Given the description of an element on the screen output the (x, y) to click on. 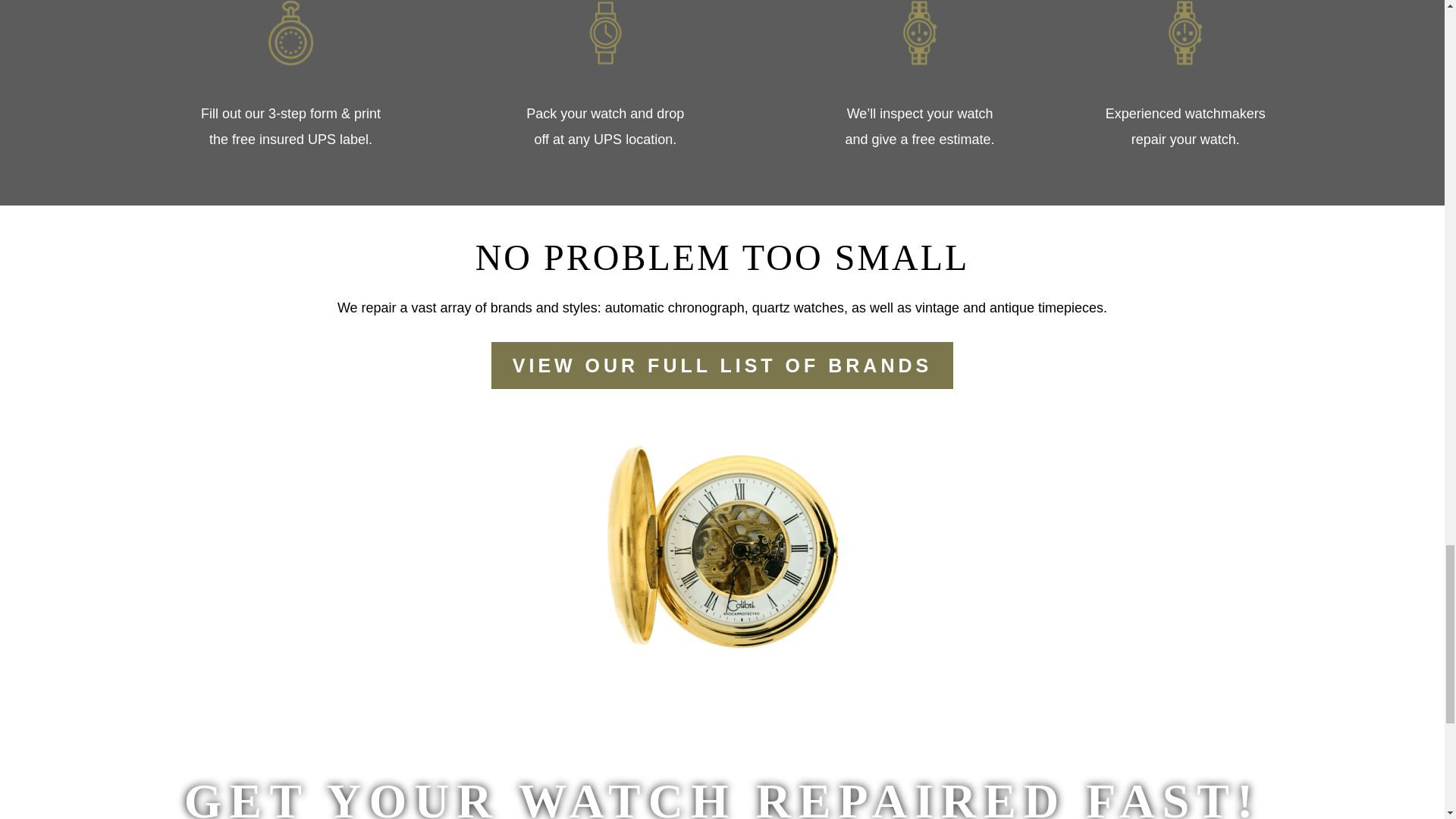
VIEW OUR FULL LIST OF BRANDS (722, 365)
